Given the description of an element on the screen output the (x, y) to click on. 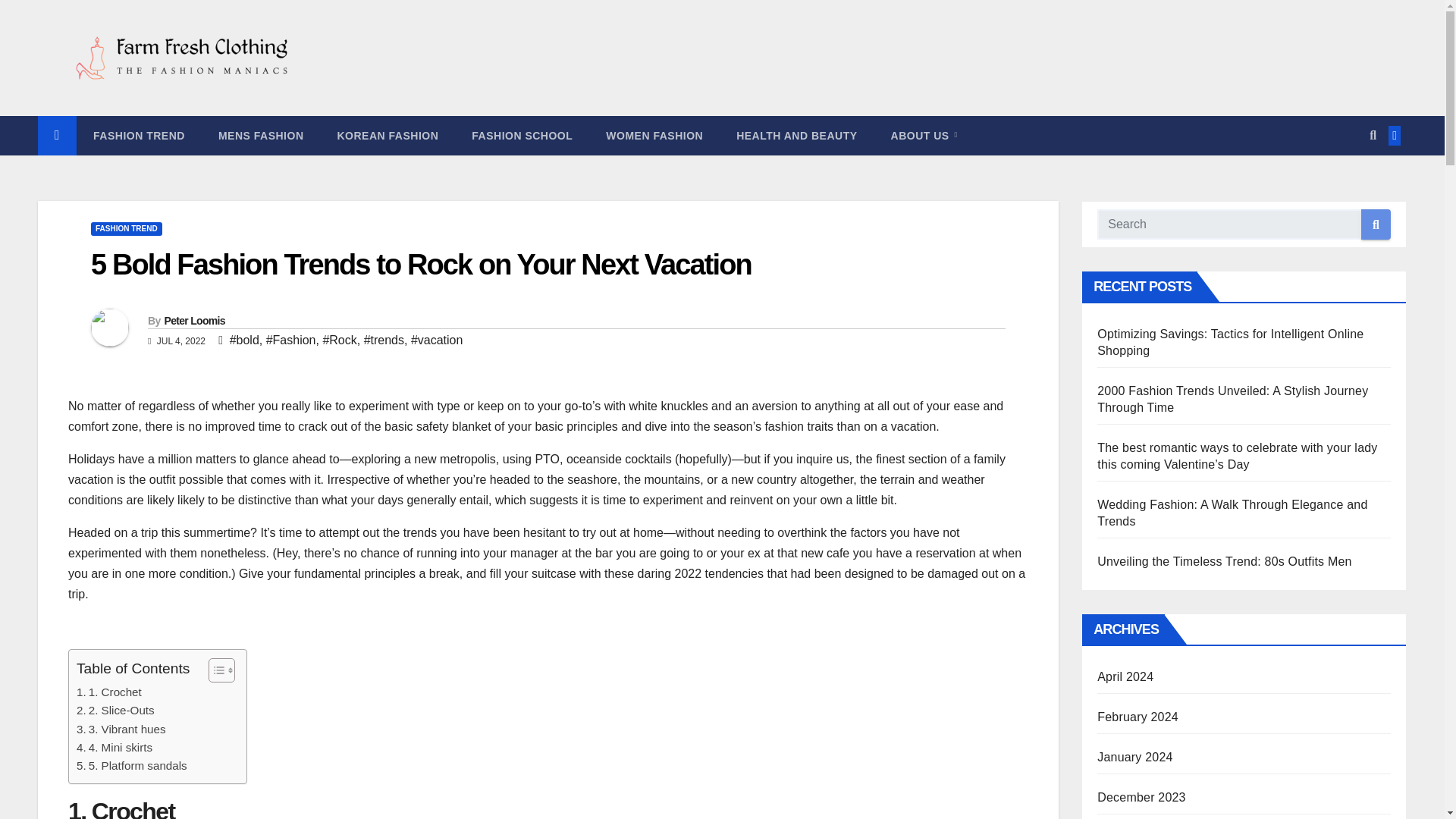
Fashion School (521, 135)
Health And Beauty (796, 135)
ABOUT US (924, 135)
FASHION SCHOOL (521, 135)
HEALTH AND BEAUTY (796, 135)
Peter Loomis (193, 320)
Fashion Trend (139, 135)
MENS FASHION (261, 135)
1. Crochet (109, 692)
5. Platform sandals (132, 765)
2. Slice-Outs (115, 710)
3. Vibrant hues (121, 729)
5 Bold Fashion Trends to Rock on Your Next Vacation (420, 264)
About Us (924, 135)
